Given the description of an element on the screen output the (x, y) to click on. 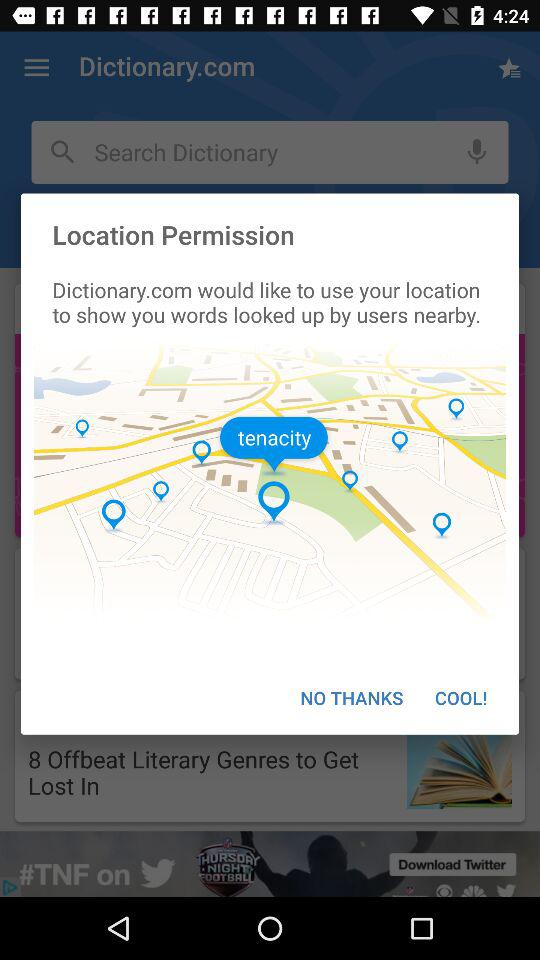
swipe until cool! icon (461, 697)
